Given the description of an element on the screen output the (x, y) to click on. 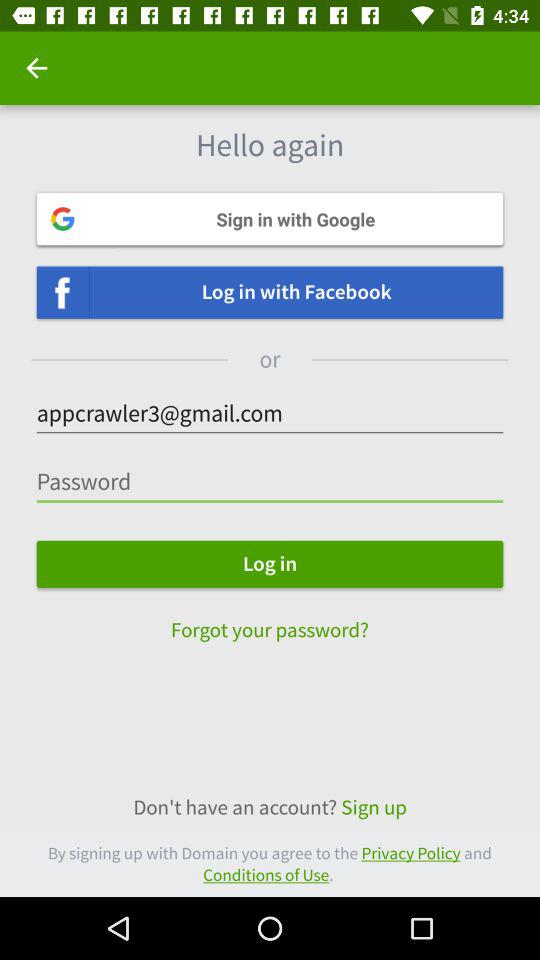
turn on don t have item (269, 807)
